Given the description of an element on the screen output the (x, y) to click on. 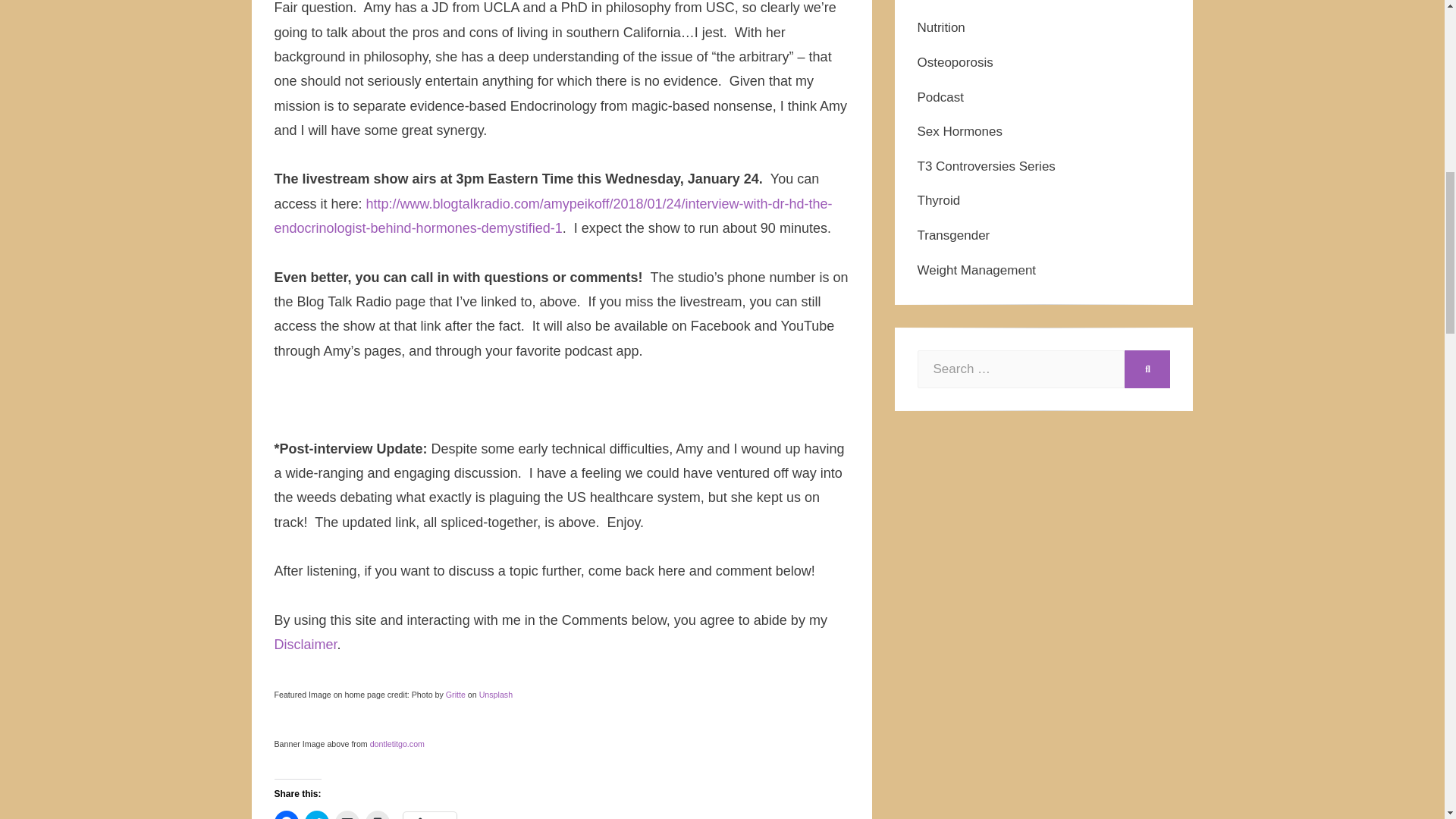
Click to email a link to a friend (346, 814)
More (430, 815)
Click to print (377, 814)
Unsplash (495, 694)
dontletitgo.com (397, 743)
Click to share on Facebook (286, 814)
Disclaimer (306, 644)
Search for: (1021, 369)
Gritte (455, 694)
Click to share on Twitter (316, 814)
